Given the description of an element on the screen output the (x, y) to click on. 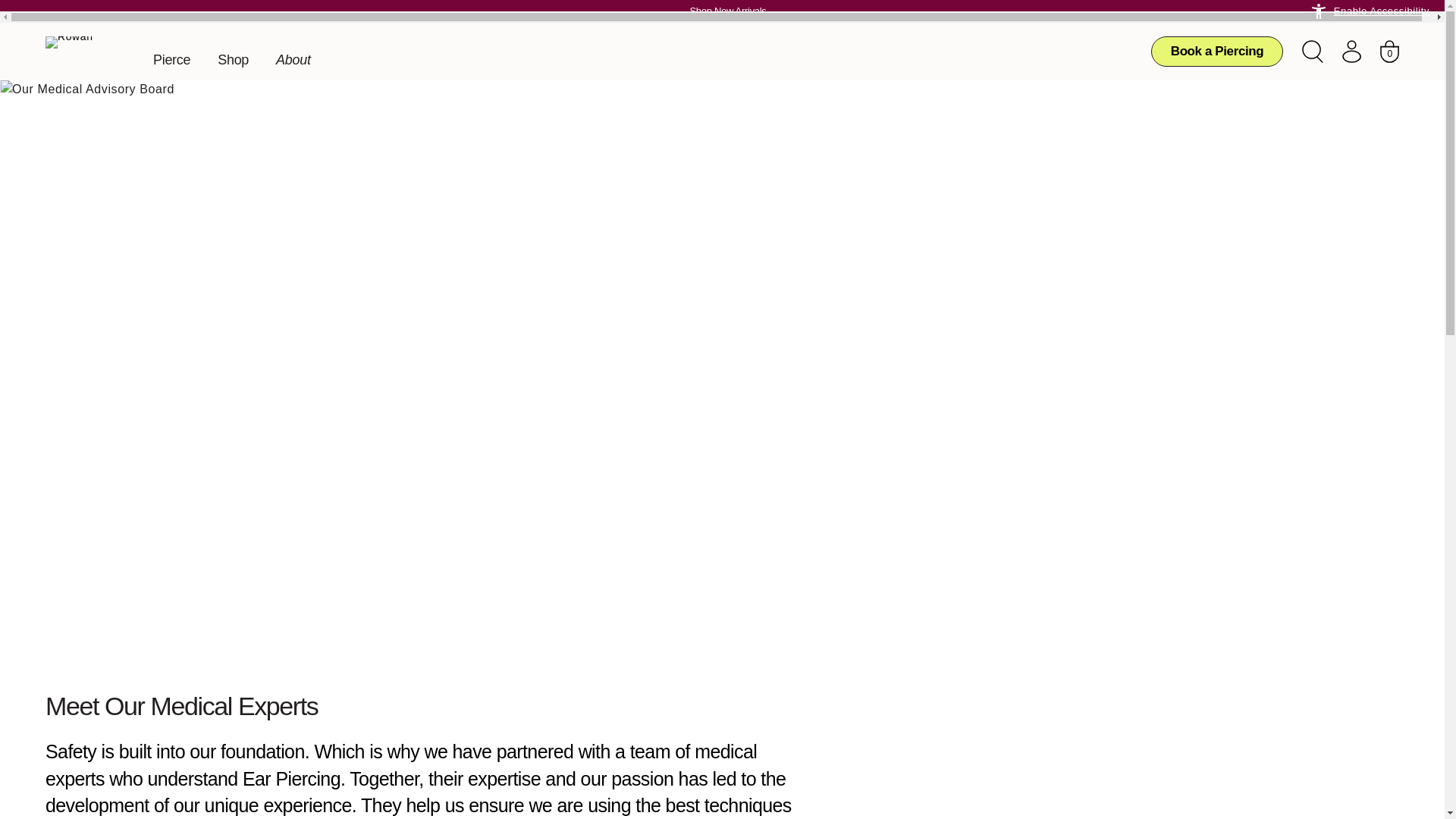
Enable Accessibility (1368, 11)
Skip to content (50, 17)
Pierce (171, 59)
